Given the description of an element on the screen output the (x, y) to click on. 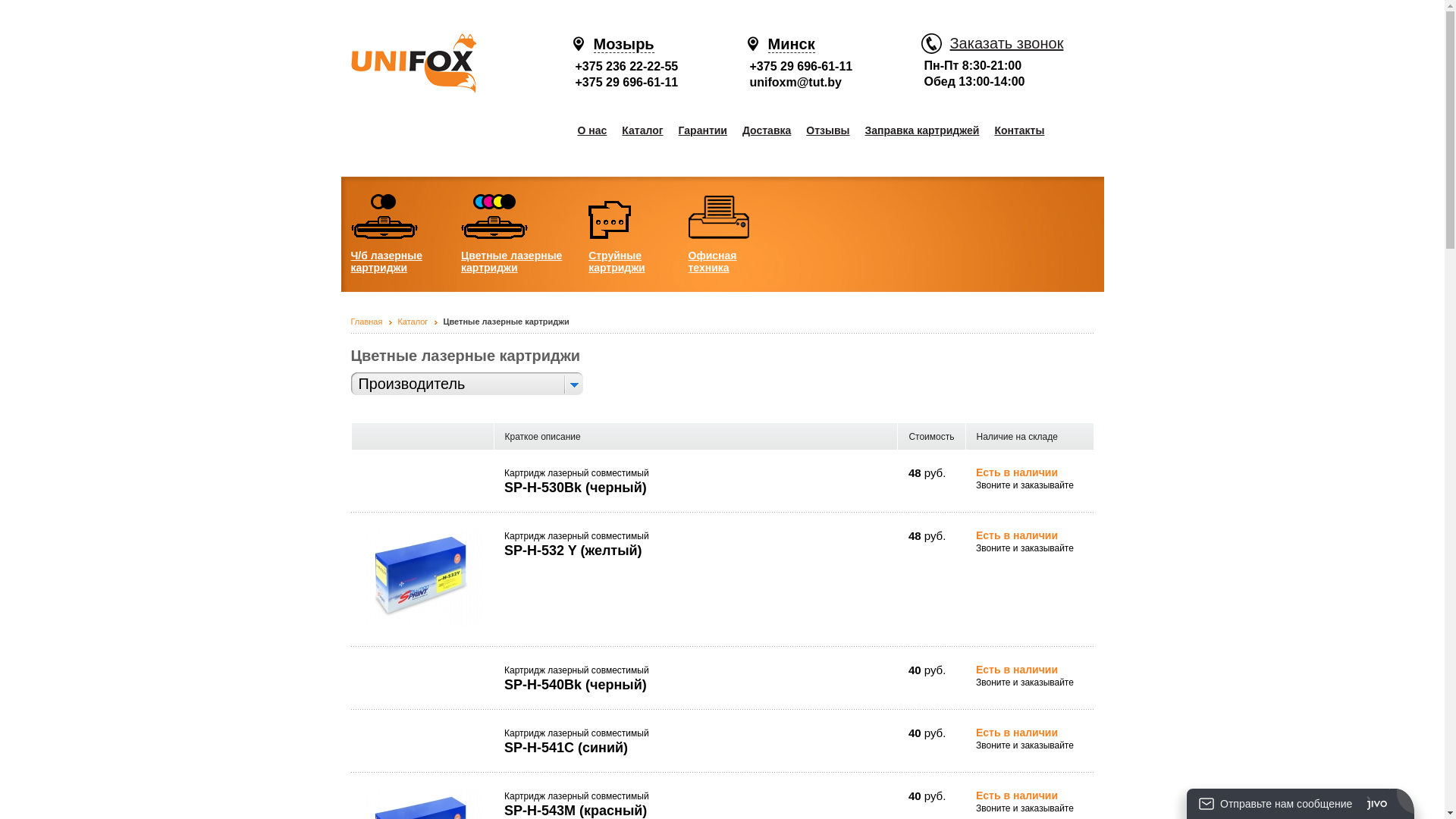
  Element type: text (571, 383)
